Given the description of an element on the screen output the (x, y) to click on. 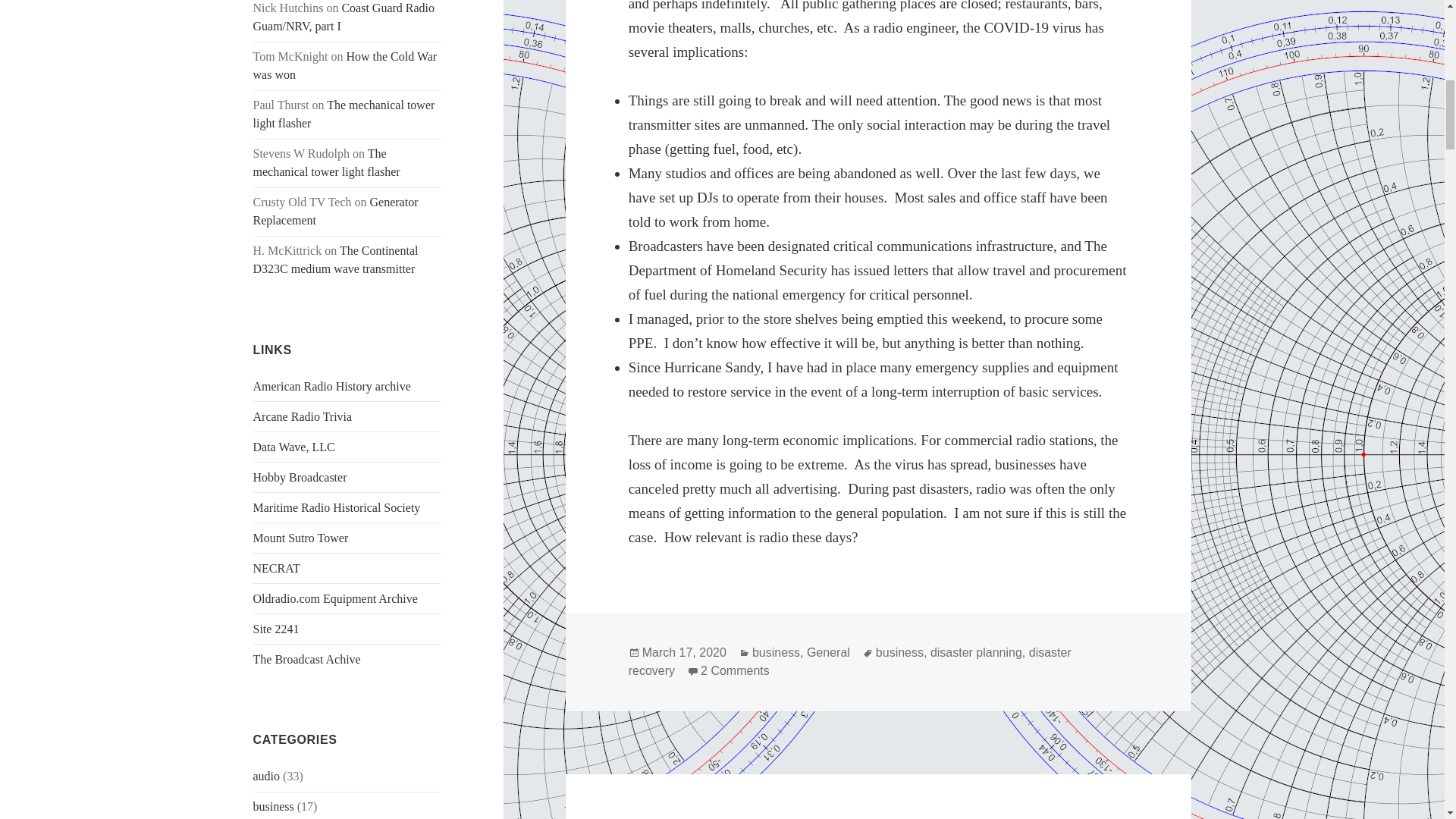
How the Cold War was won (345, 65)
The Continental D323C medium wave transmitter (336, 259)
Tower and Antenna photography (276, 567)
Arcane Radio Trivia (302, 416)
business (273, 806)
The Broadcast Achive (307, 658)
Maritime Radio Historical Society (336, 507)
American Radio History archive (331, 386)
Generator Replacement (336, 210)
Site 2241 (276, 628)
Data Wave, LLC (293, 446)
audio (267, 775)
Hobby Broadcaster (300, 477)
Oldradio.com Equipment Archive (335, 598)
The mechanical tower light flasher (326, 162)
